Given the description of an element on the screen output the (x, y) to click on. 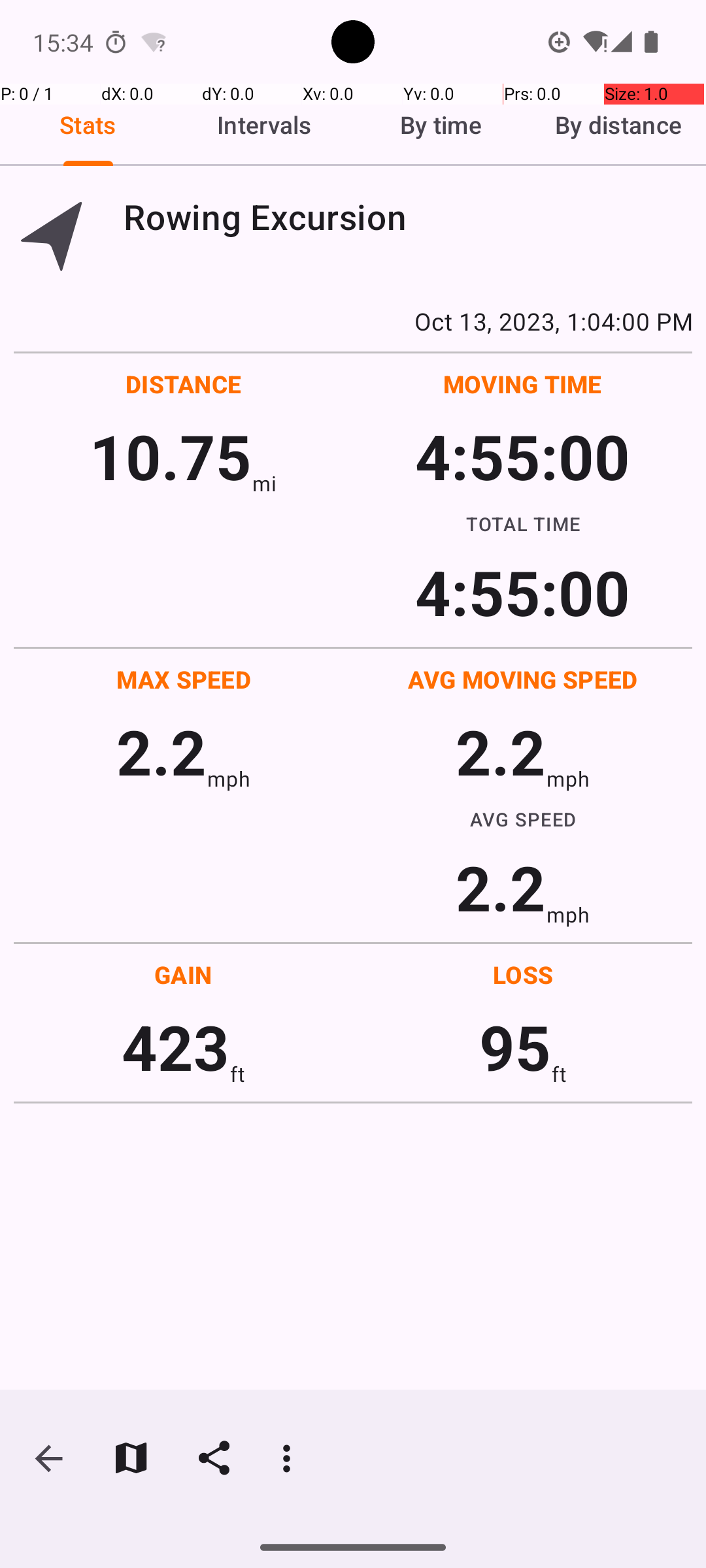
Rowing Excursion Element type: android.widget.TextView (407, 216)
Oct 13, 2023, 1:04:00 PM Element type: android.widget.TextView (352, 320)
10.75 Element type: android.widget.TextView (170, 455)
4:55:00 Element type: android.widget.TextView (522, 455)
2.2 Element type: android.widget.TextView (161, 750)
423 Element type: android.widget.TextView (175, 1045)
95 Element type: android.widget.TextView (515, 1045)
